Given the description of an element on the screen output the (x, y) to click on. 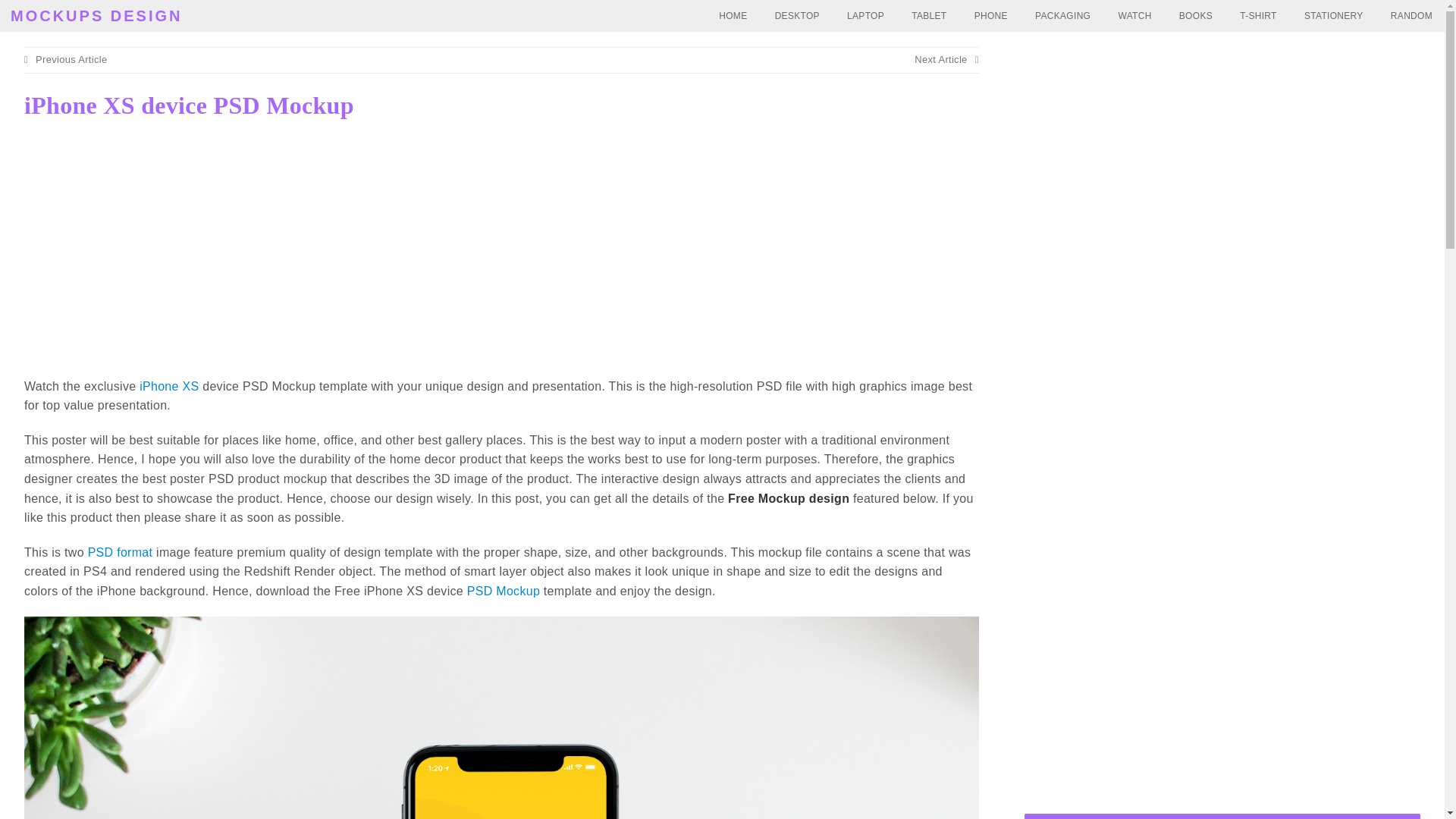
PACKAGING (1062, 15)
T-SHIRT (1257, 15)
BOOKS (1195, 15)
DESKTOP (796, 15)
HOME (732, 15)
WATCH (1134, 15)
MOCKUPS DESIGN (96, 15)
iPhone XS (168, 386)
Next Article (946, 59)
PHONE (991, 15)
PSD Mockup (503, 590)
Previous Article (65, 59)
STATIONERY (1333, 15)
LAPTOP (865, 15)
TABLET (928, 15)
